Given the description of an element on the screen output the (x, y) to click on. 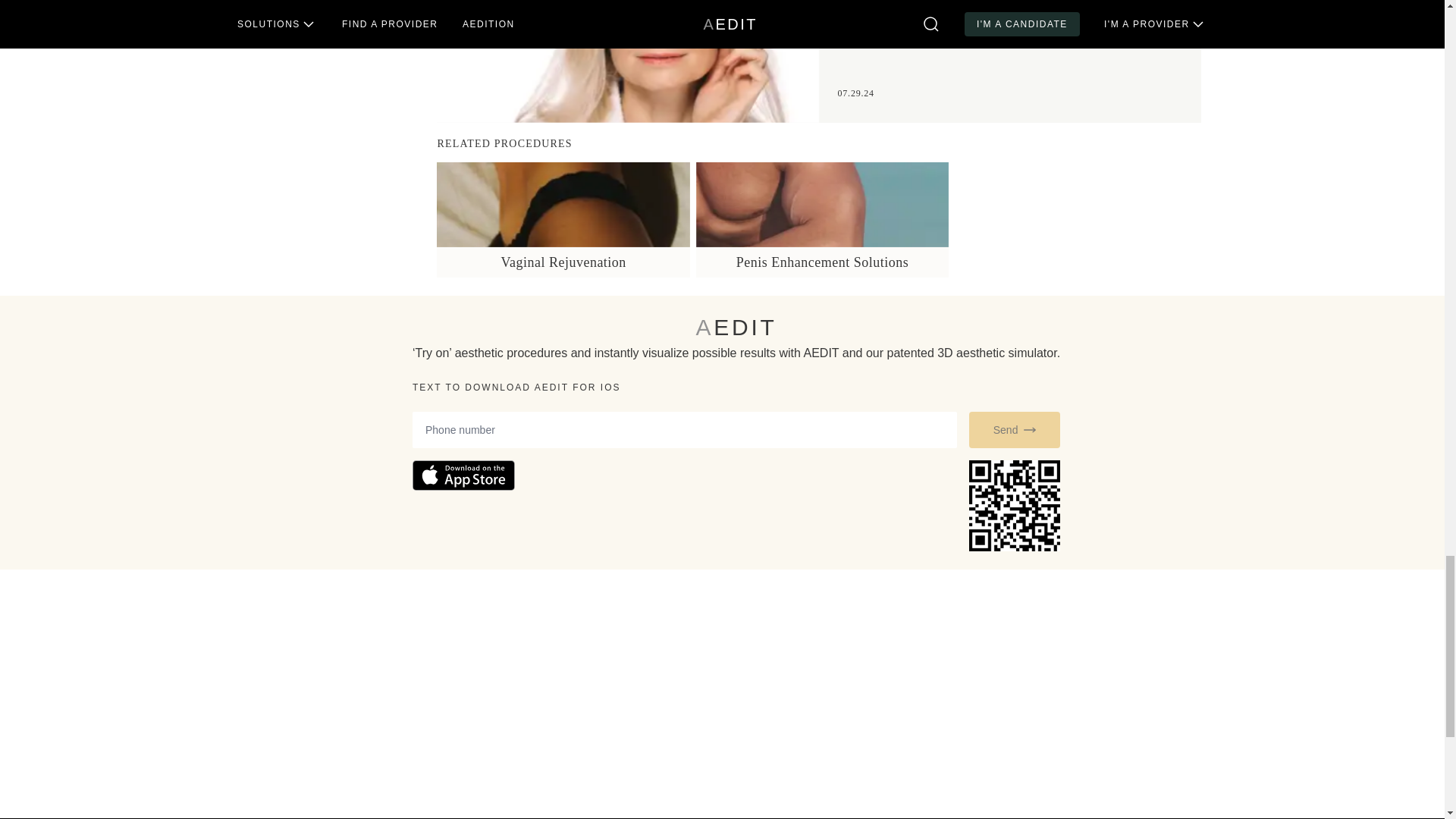
arrow (1029, 429)
